Given the description of an element on the screen output the (x, y) to click on. 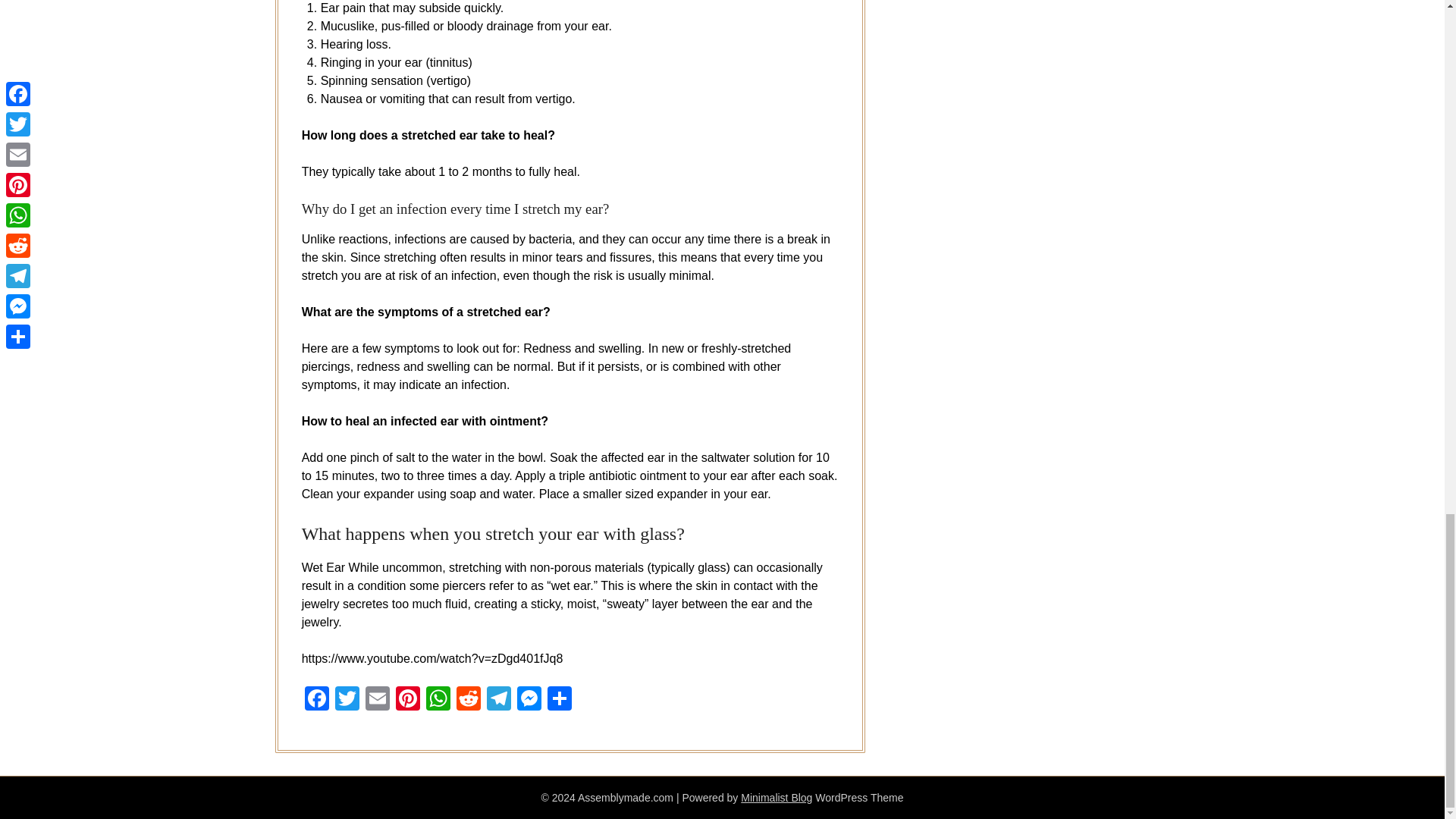
Telegram (498, 700)
Minimalist Blog (776, 797)
Pinterest (408, 700)
Email (377, 700)
Reddit (467, 700)
WhatsApp (437, 700)
Messenger (528, 700)
Email (377, 700)
Telegram (498, 700)
Facebook (316, 700)
